Given the description of an element on the screen output the (x, y) to click on. 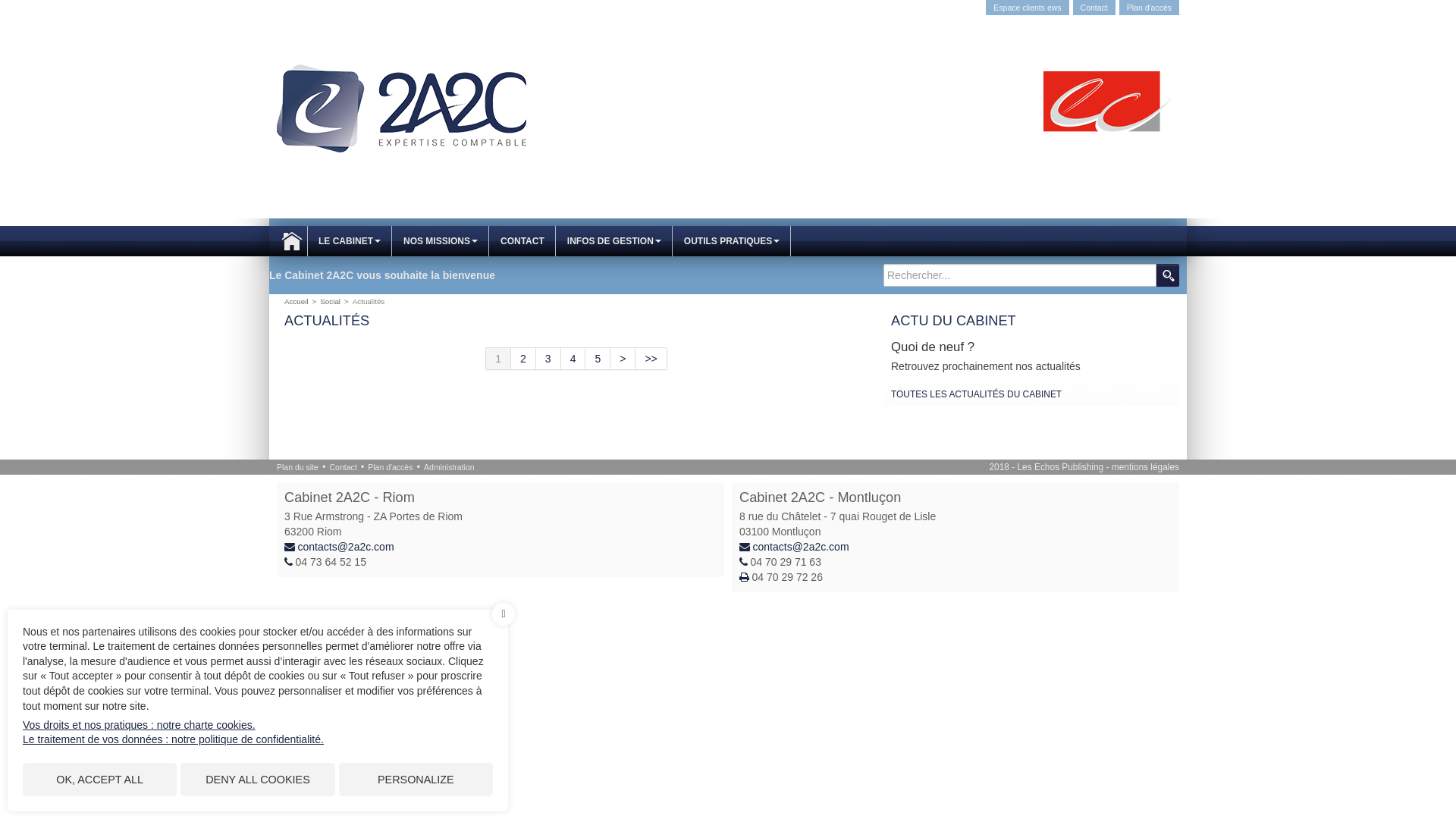
Social Element type: text (330, 301)
Email Element type: hover (746, 546)
Contact Element type: text (342, 466)
Accueil Element type: text (296, 301)
INFOS DE GESTION Element type: text (613, 240)
NOS MISSIONS Element type: text (440, 240)
4 Element type: text (573, 358)
2 Element type: text (523, 358)
Contact Element type: text (1094, 7)
> Element type: text (622, 358)
Espace clients ews Element type: text (1026, 7)
Email Element type: hover (291, 546)
Fax Element type: hover (745, 577)
1 Element type: text (498, 358)
Administration Element type: text (448, 466)
contacts@2a2c.com Element type: text (800, 546)
contacts@2a2c.com Element type: text (345, 546)
5 Element type: text (597, 358)
ACCUEIL Element type: text (291, 240)
Accueil Element type: hover (401, 108)
Plan du site Element type: text (297, 466)
OUTILS PRATIQUES Element type: text (731, 240)
3 Element type: text (548, 358)
LE CABINET Element type: text (349, 240)
CONTACT Element type: text (522, 240)
>> Element type: text (650, 358)
